Given the description of an element on the screen output the (x, y) to click on. 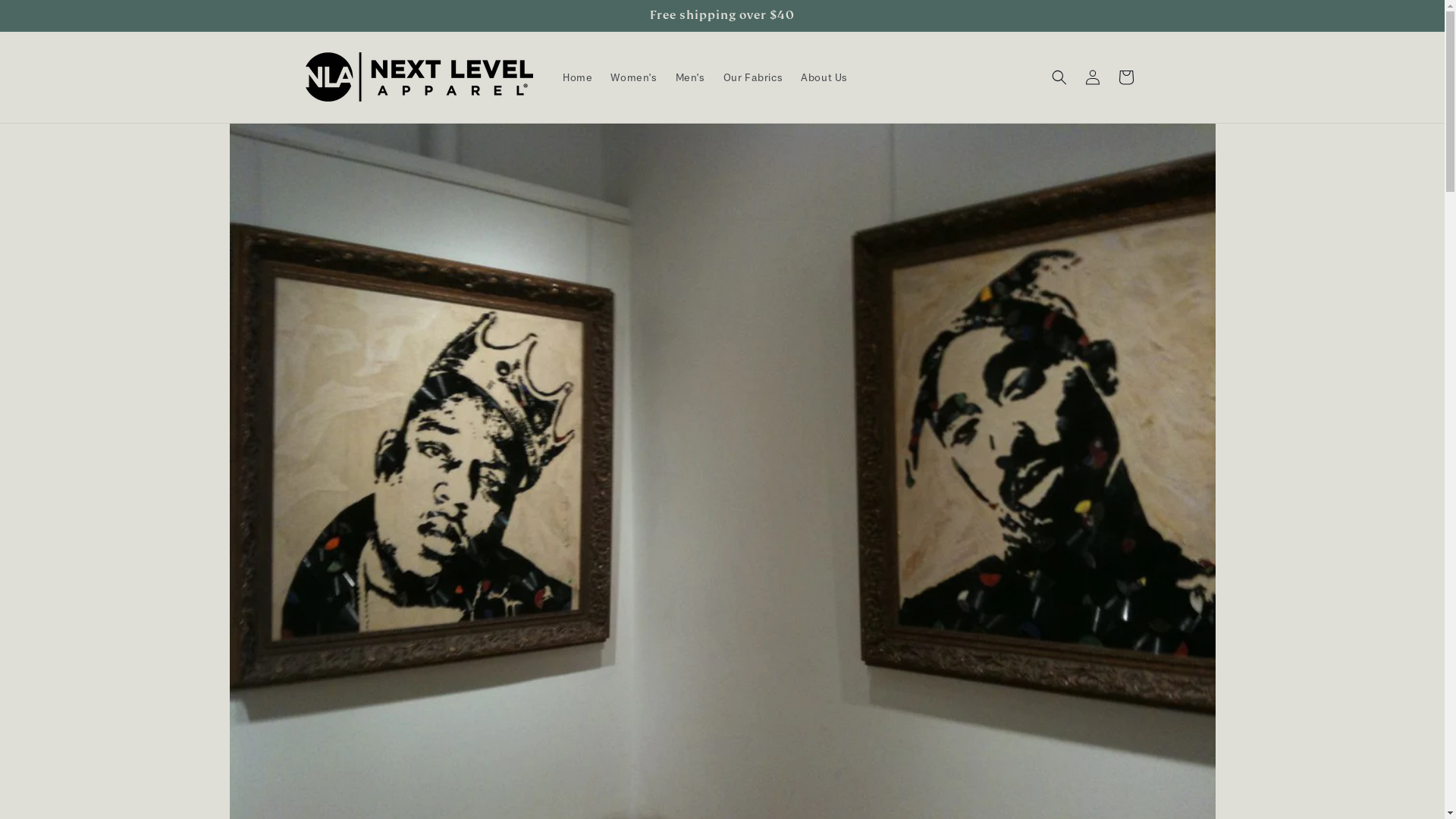
Women's Element type: text (633, 77)
Home Element type: text (577, 77)
Log in Element type: text (1091, 77)
Cart Element type: text (1125, 77)
Our Fabrics Element type: text (753, 77)
About Us Element type: text (823, 77)
Men's Element type: text (690, 77)
